Given the description of an element on the screen output the (x, y) to click on. 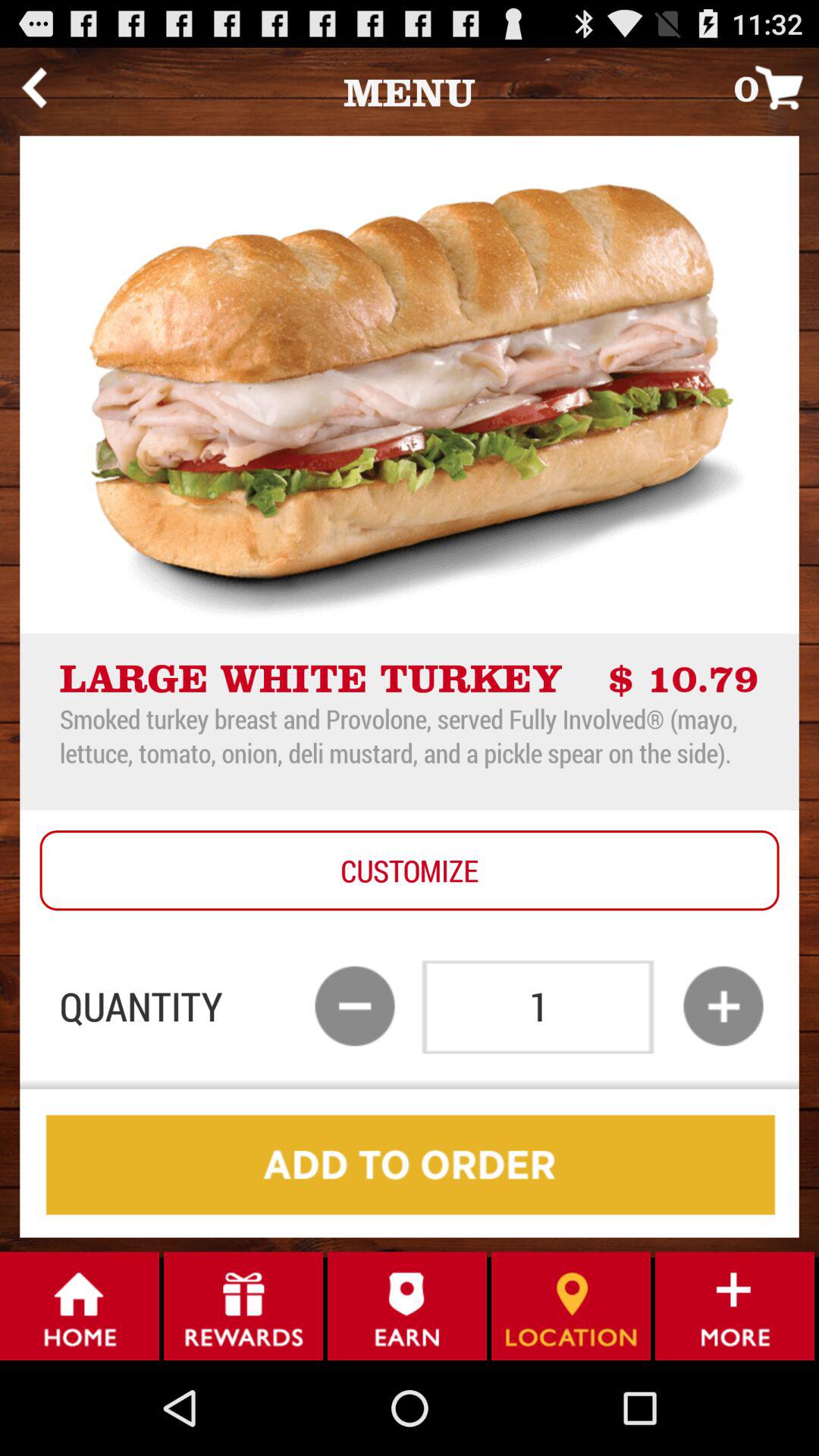
launch the app next to menu app (776, 87)
